Given the description of an element on the screen output the (x, y) to click on. 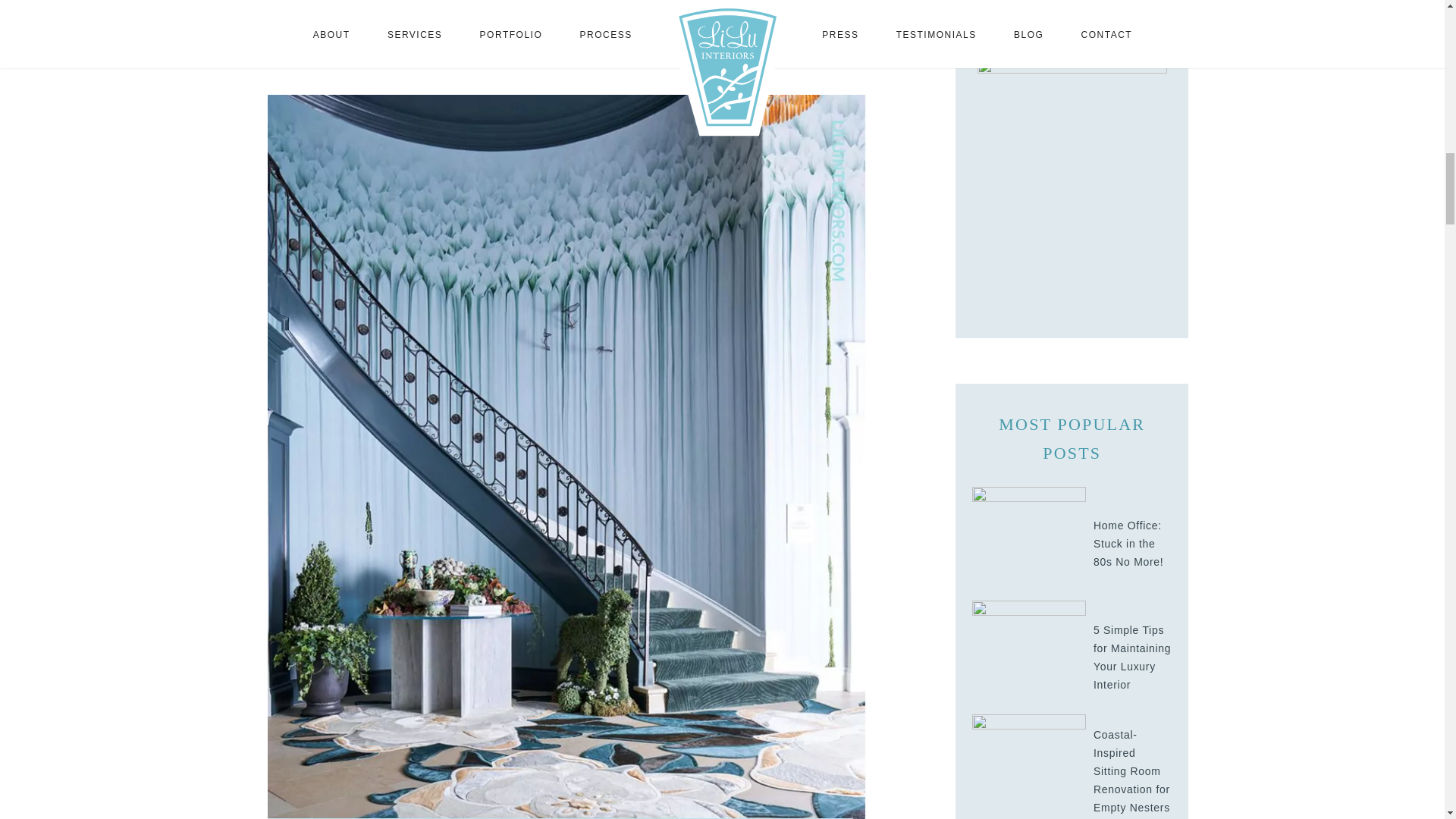
Home Office: Stuck in the 80s No More! (1029, 542)
5 Simple Tips for Maintaining Your Luxury Interior (1029, 656)
Coastal-Inspired Sitting Room Renovation for Empty Nesters (1029, 769)
